Given the description of an element on the screen output the (x, y) to click on. 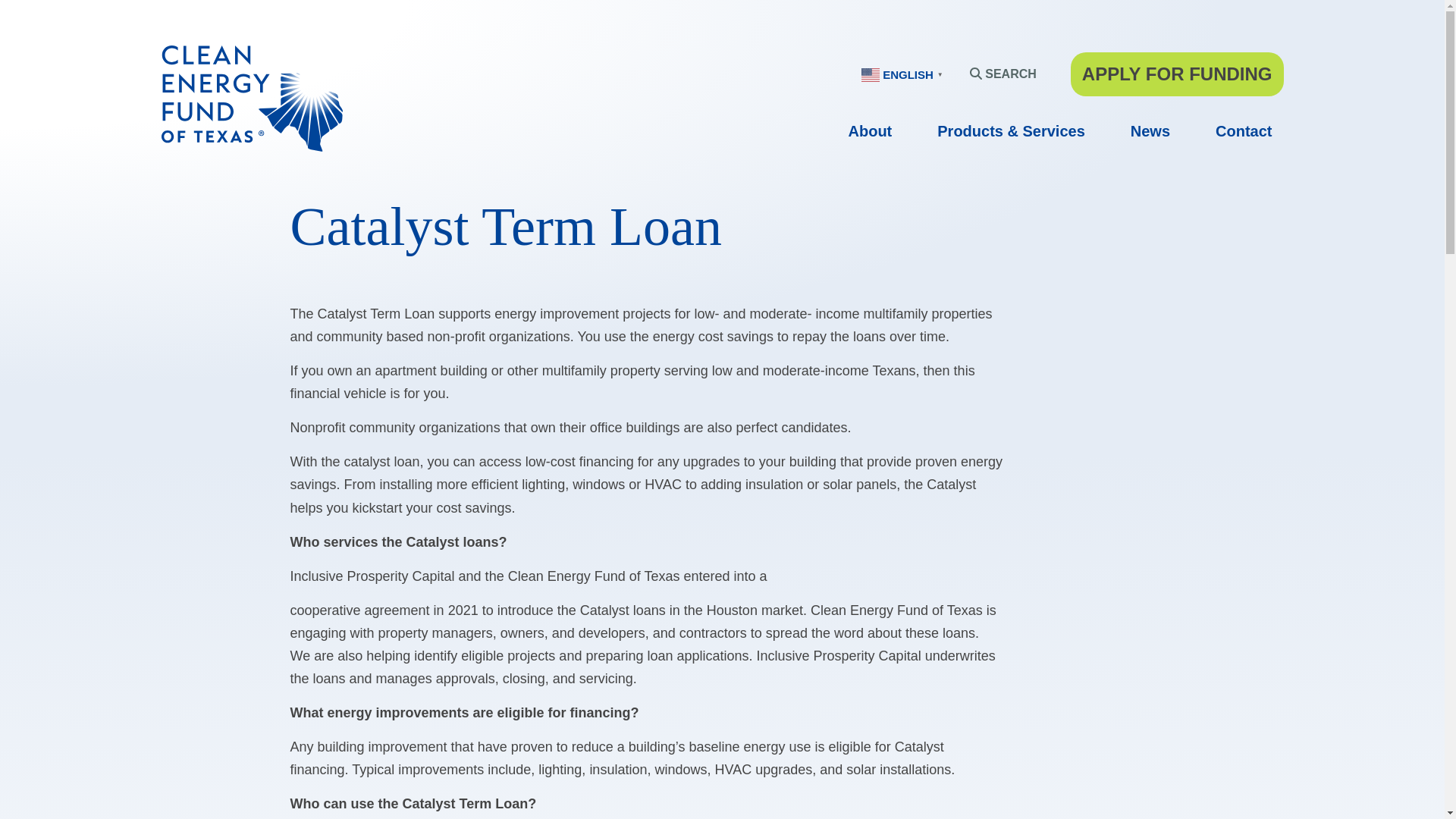
About (869, 133)
SEARCH (1002, 74)
APPLY FOR FUNDING (1177, 74)
News (1150, 133)
Contact (1243, 133)
